Given the description of an element on the screen output the (x, y) to click on. 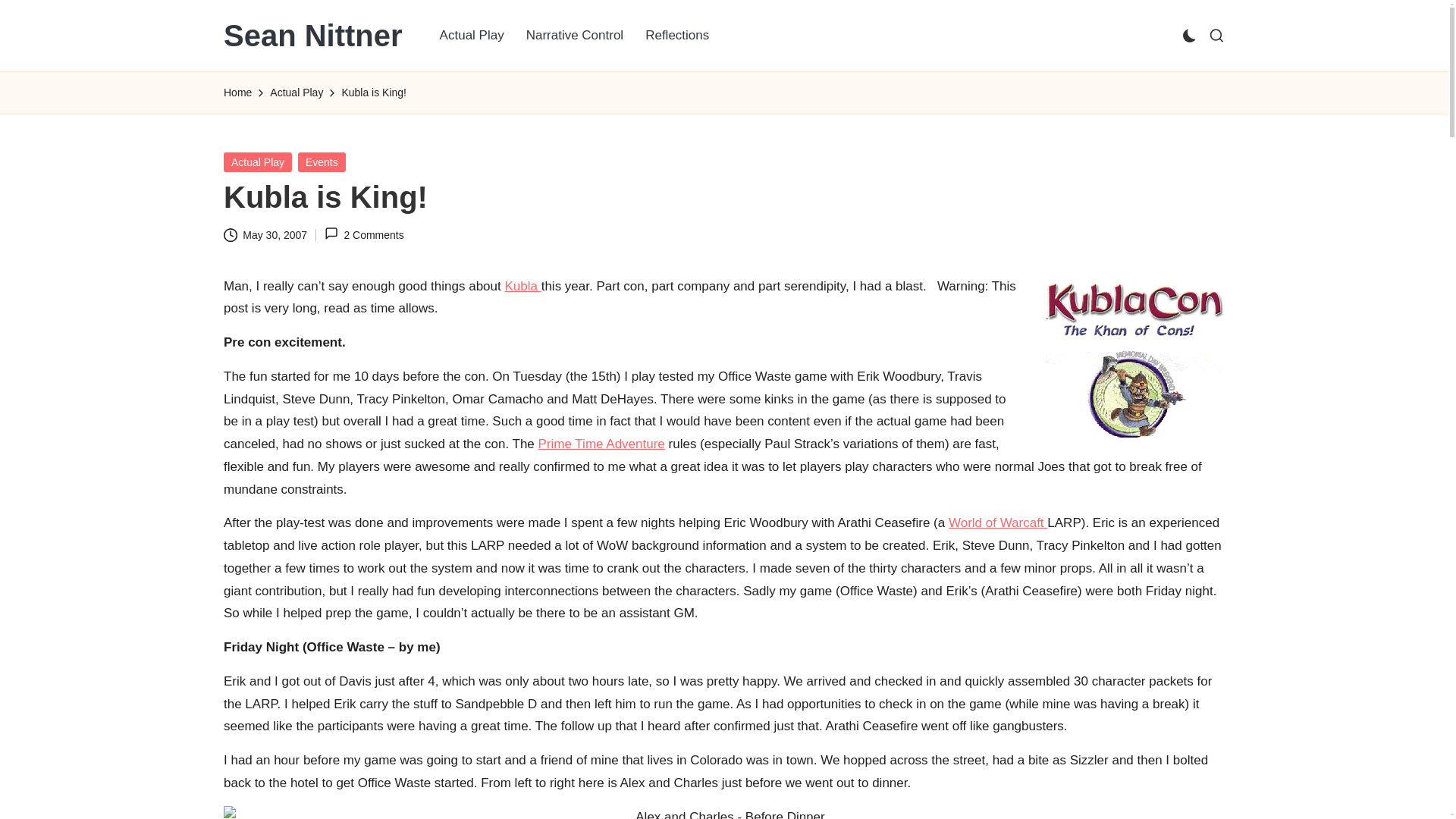
World of Warcaft (997, 522)
2 Comments (364, 235)
Events (322, 161)
Kubla (521, 286)
KublaCon (1134, 361)
Home (237, 92)
Narrative Control (574, 35)
Actual Play (258, 161)
Actual Play (472, 35)
Reflections (676, 35)
Prime Time Adventure (601, 443)
Actual Play (296, 92)
Sean Nittner (313, 35)
